Given the description of an element on the screen output the (x, y) to click on. 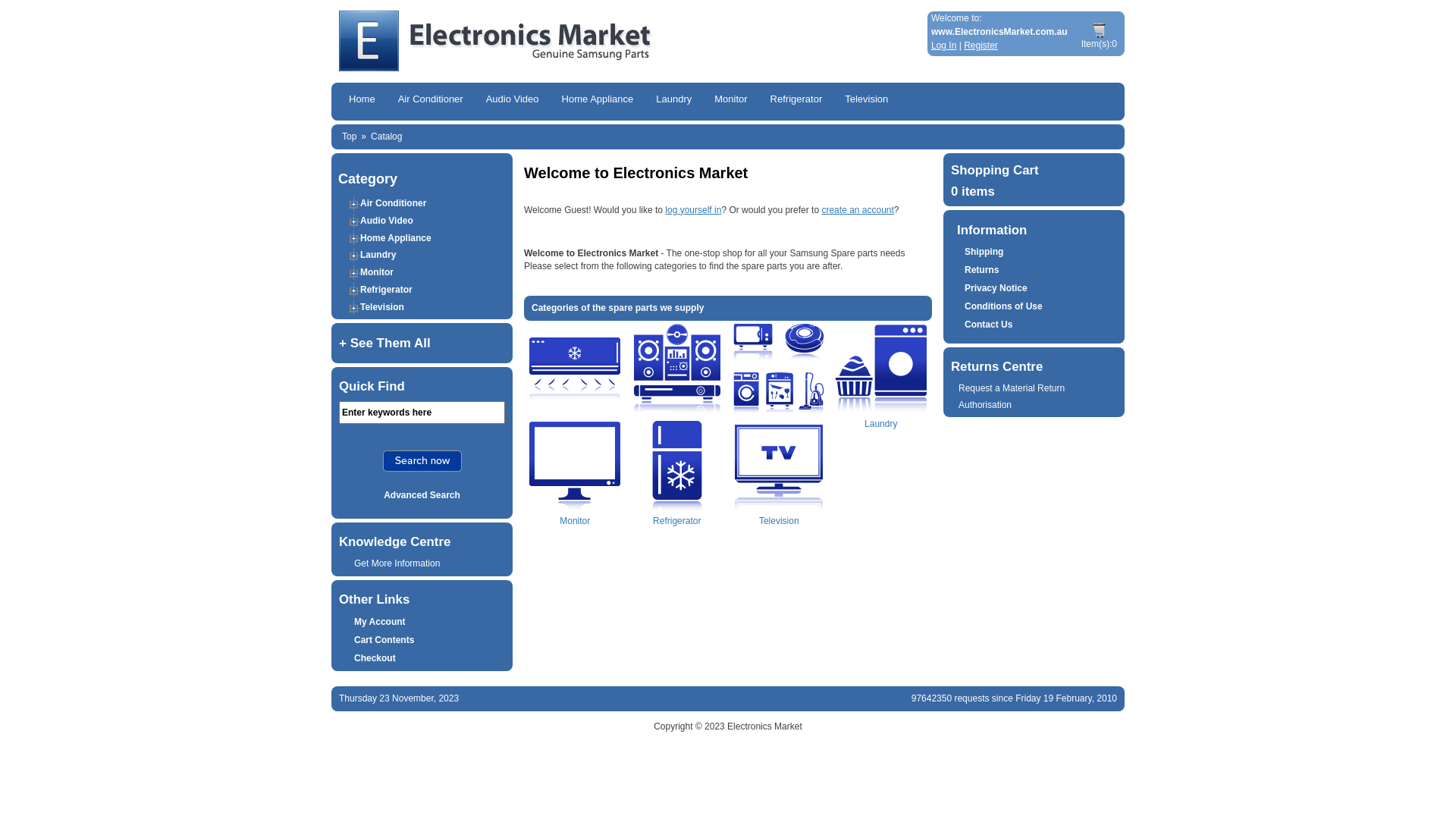
Advanced Search Element type: text (421, 494)
+ See Them All Element type: text (421, 343)
Shopping Cart Element type: text (994, 170)
Television Element type: text (866, 99)
Laundry Element type: text (377, 254)
Refrigerator Element type: text (386, 289)
 Refrigerator  Element type: hover (676, 465)
My Account Element type: text (379, 621)
 Monitor  Element type: hover (574, 465)
Audio Video Element type: text (676, 396)
log yourself in Element type: text (693, 209)
 Quick Find  Element type: hover (422, 460)
 Air Conditioner  Element type: hover (574, 368)
Laundry Element type: text (880, 396)
Register Element type: text (980, 45)
create an account Element type: text (857, 209)
 Home Appliance  Element type: hover (778, 368)
Refrigerator Element type: text (676, 494)
Television Element type: text (778, 494)
Top Element type: text (348, 136)
Log In Element type: text (943, 45)
Request a Material Return Authorisation Element type: text (1011, 396)
Refrigerator Element type: text (796, 99)
Air Conditioner Element type: text (430, 99)
Shipping Element type: text (983, 251)
Air Conditioner Element type: text (393, 202)
 Television  Element type: hover (778, 465)
Conditions of Use Element type: text (1003, 306)
Audio Video Element type: text (386, 220)
Television Element type: text (382, 306)
Contact Us Element type: text (988, 324)
Monitor Element type: text (376, 271)
Home Appliance Element type: text (395, 237)
Home Element type: text (361, 99)
Category Element type: text (367, 178)
Get More Information Element type: text (396, 563)
 Cart Contents  Element type: hover (1098, 29)
Monitor Element type: text (730, 99)
Monitor Element type: text (574, 494)
 Audio Video  Element type: hover (676, 368)
Checkout Element type: text (374, 657)
Electronics Market Element type: text (764, 726)
Cart Contents Element type: text (384, 639)
Home Appliance Element type: text (778, 396)
 Electronics Market  Element type: hover (626, 40)
Privacy Notice Element type: text (995, 287)
 Laundry  Element type: hover (880, 368)
Returns Element type: text (981, 269)
Audio Video Element type: text (512, 99)
Catalog Element type: text (386, 136)
Air Conditioner Element type: text (574, 396)
Laundry Element type: text (673, 99)
Home Appliance Element type: text (597, 99)
